Given the description of an element on the screen output the (x, y) to click on. 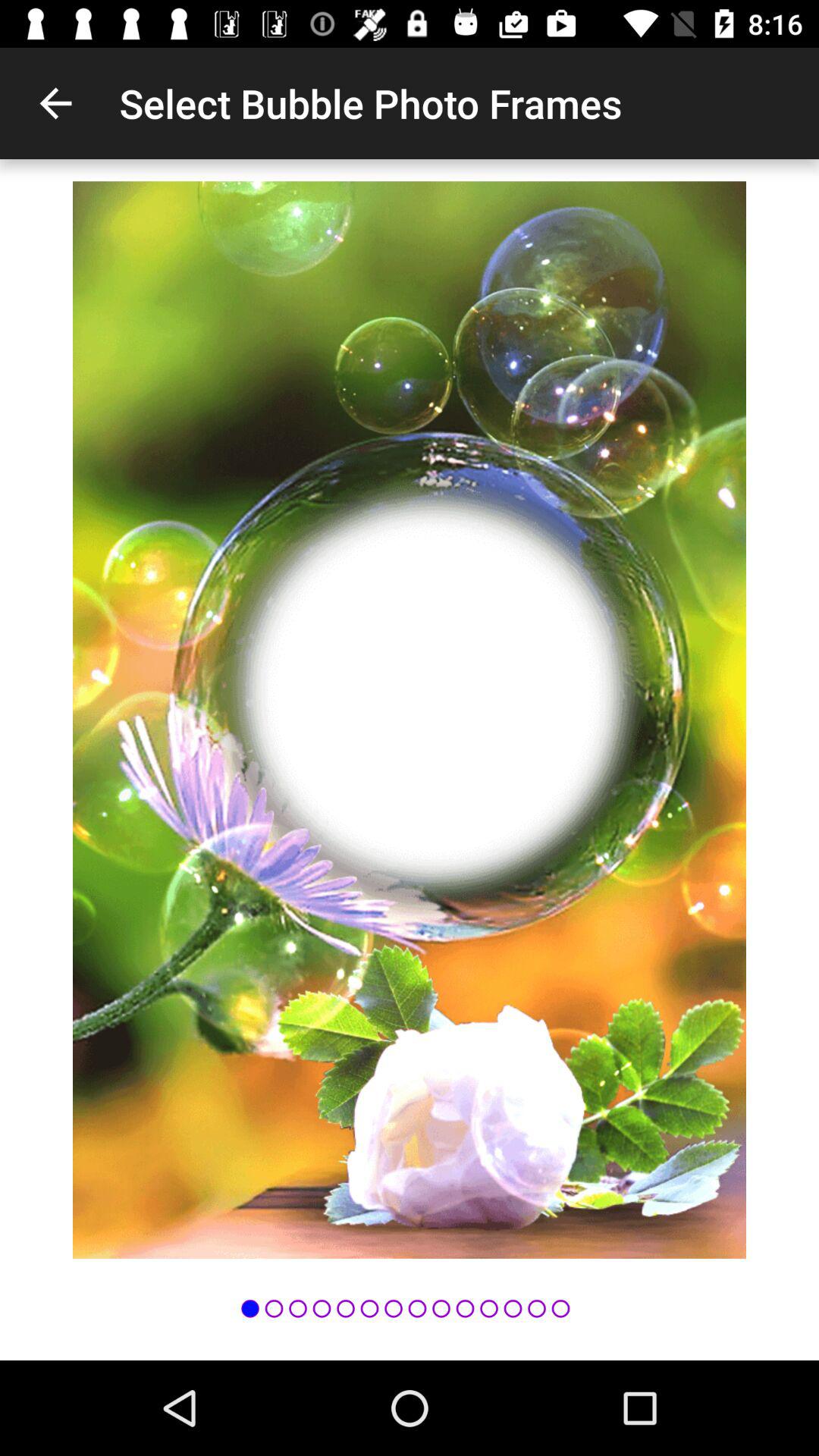
open icon next to select bubble photo (55, 103)
